Given the description of an element on the screen output the (x, y) to click on. 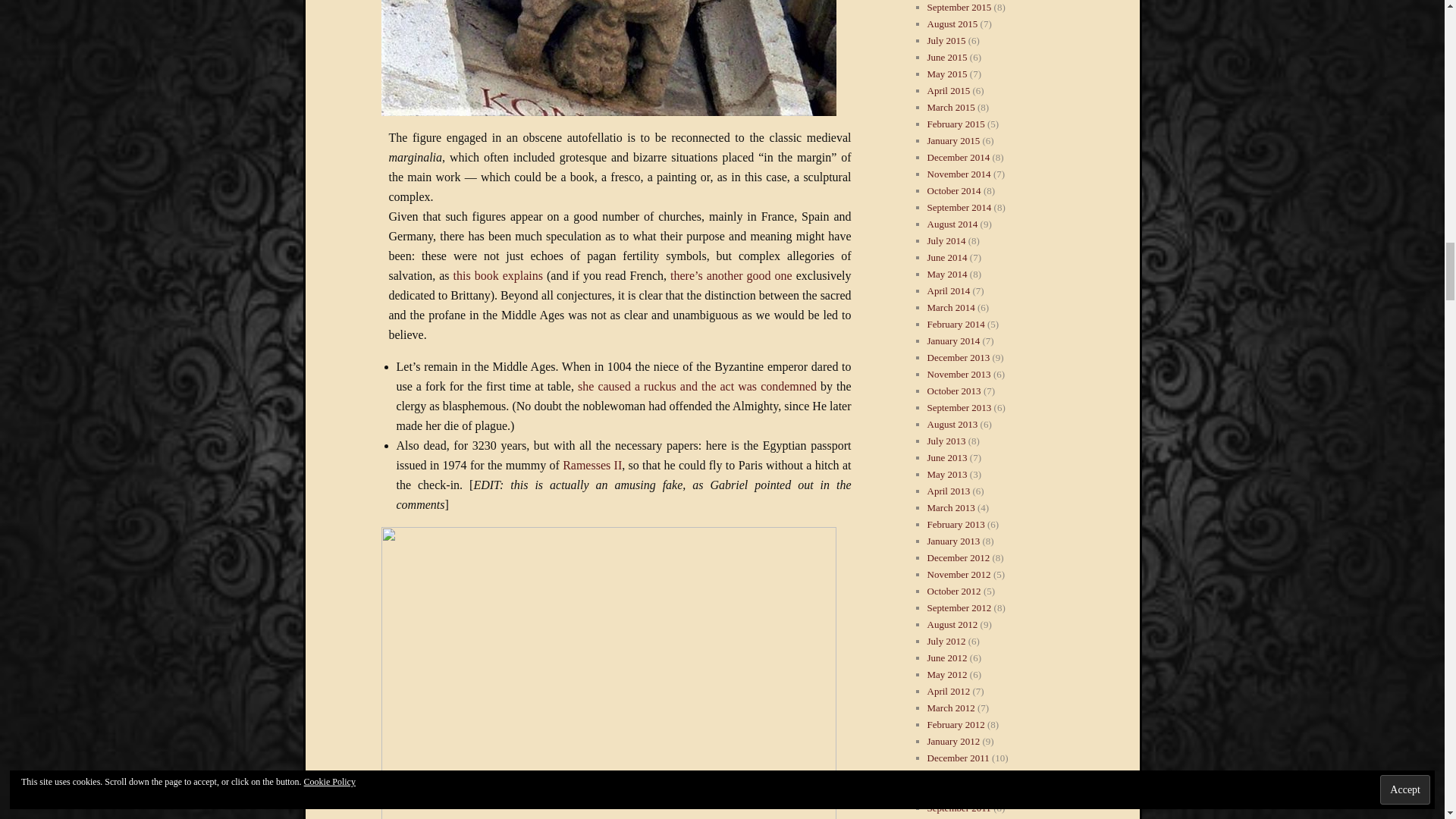
she caused a ruckus and the act was condemned (697, 386)
Ramesses II (591, 464)
this book explains (497, 275)
